Given the description of an element on the screen output the (x, y) to click on. 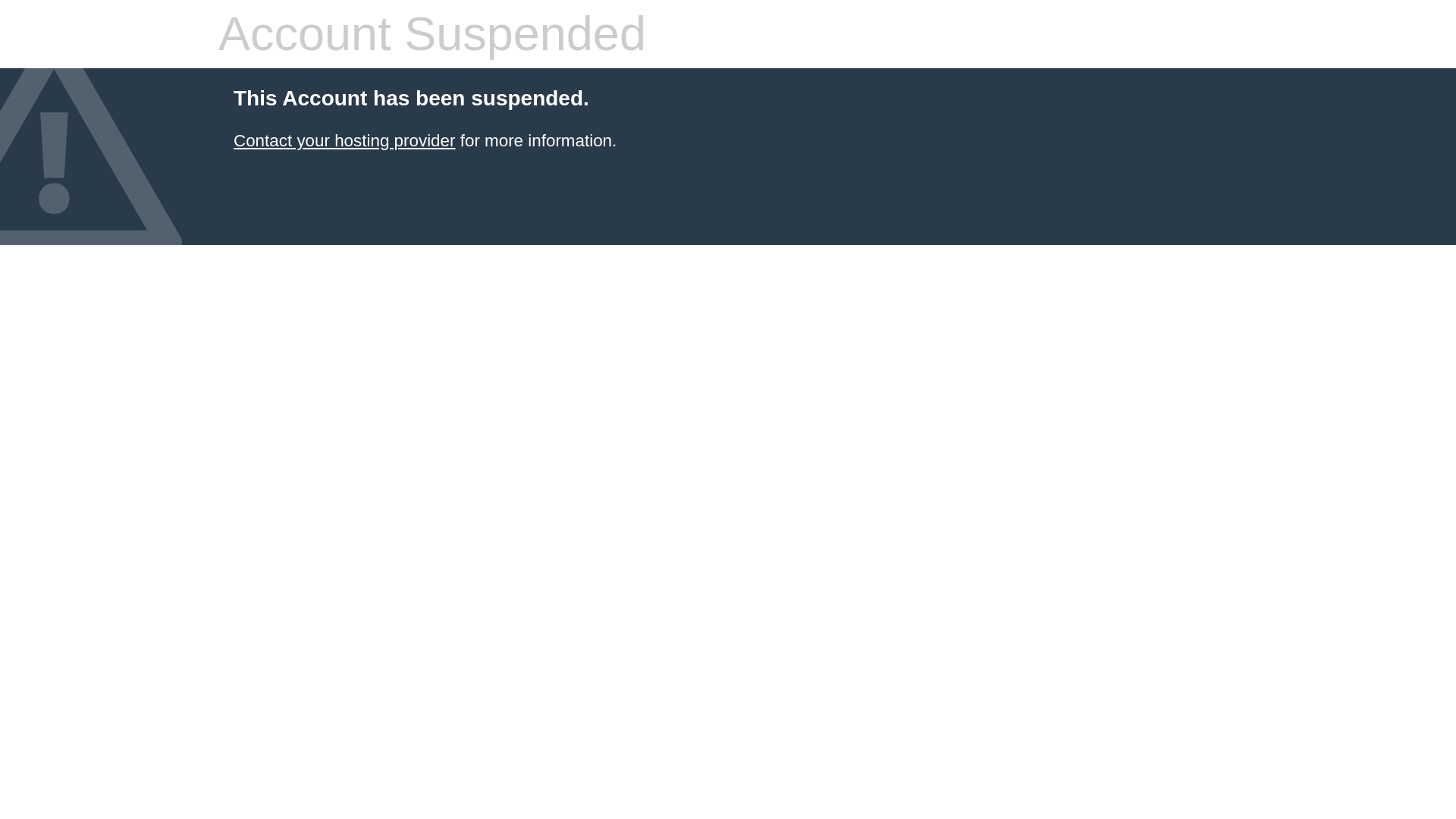
Contact your hosting provider (343, 140)
